Given the description of an element on the screen output the (x, y) to click on. 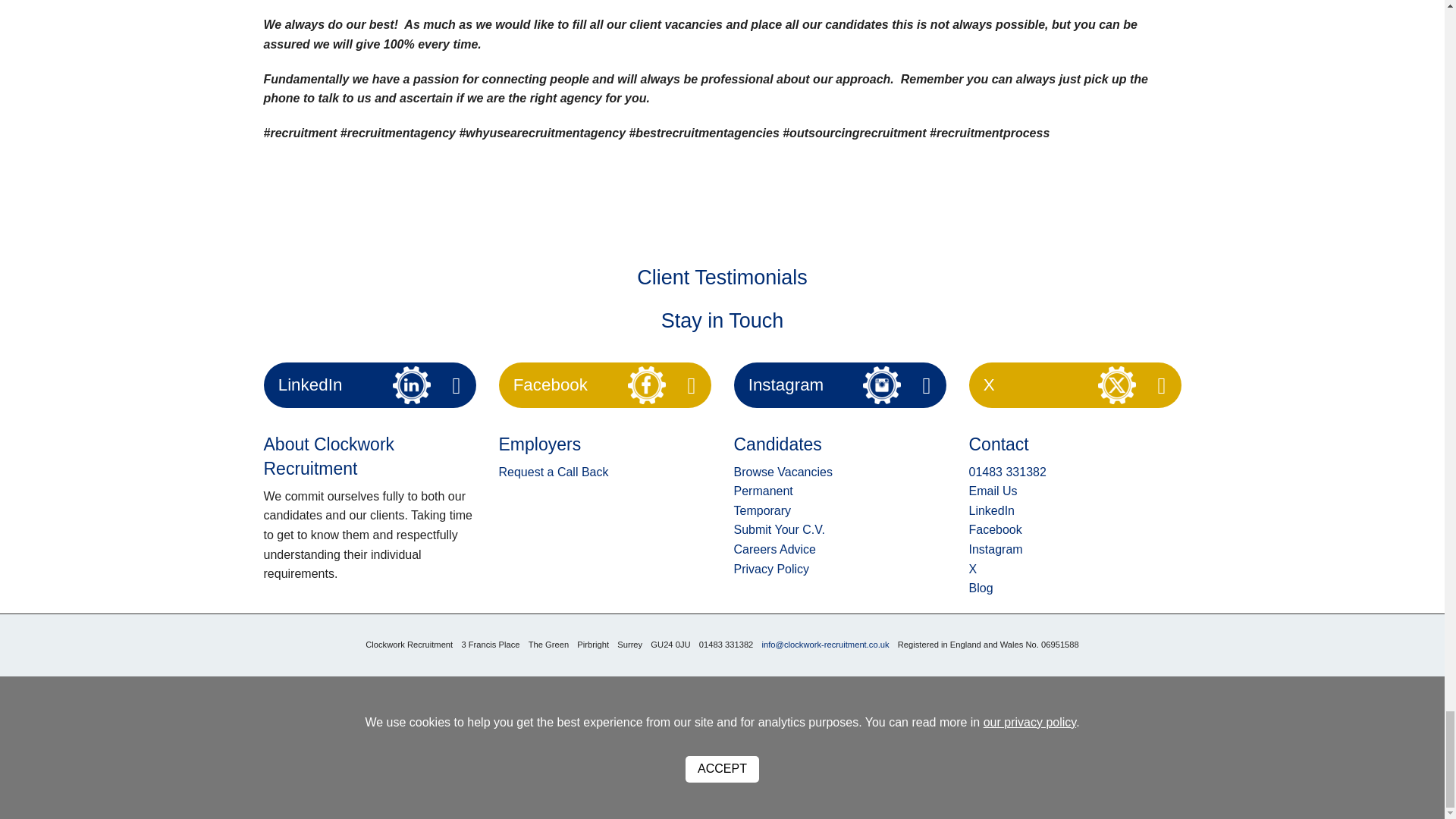
Request a Call Back (553, 472)
Temporary (762, 510)
Email Us (993, 490)
Facebook (550, 384)
our privacy policy (1029, 721)
Careers Advice (774, 549)
LinkedIn (991, 510)
Blog (980, 587)
LinkedIn (310, 384)
Instagram (786, 384)
01483 331382 (1007, 472)
Browse Vacancies (782, 472)
X (972, 568)
Facebook (995, 529)
X (989, 384)
